Given the description of an element on the screen output the (x, y) to click on. 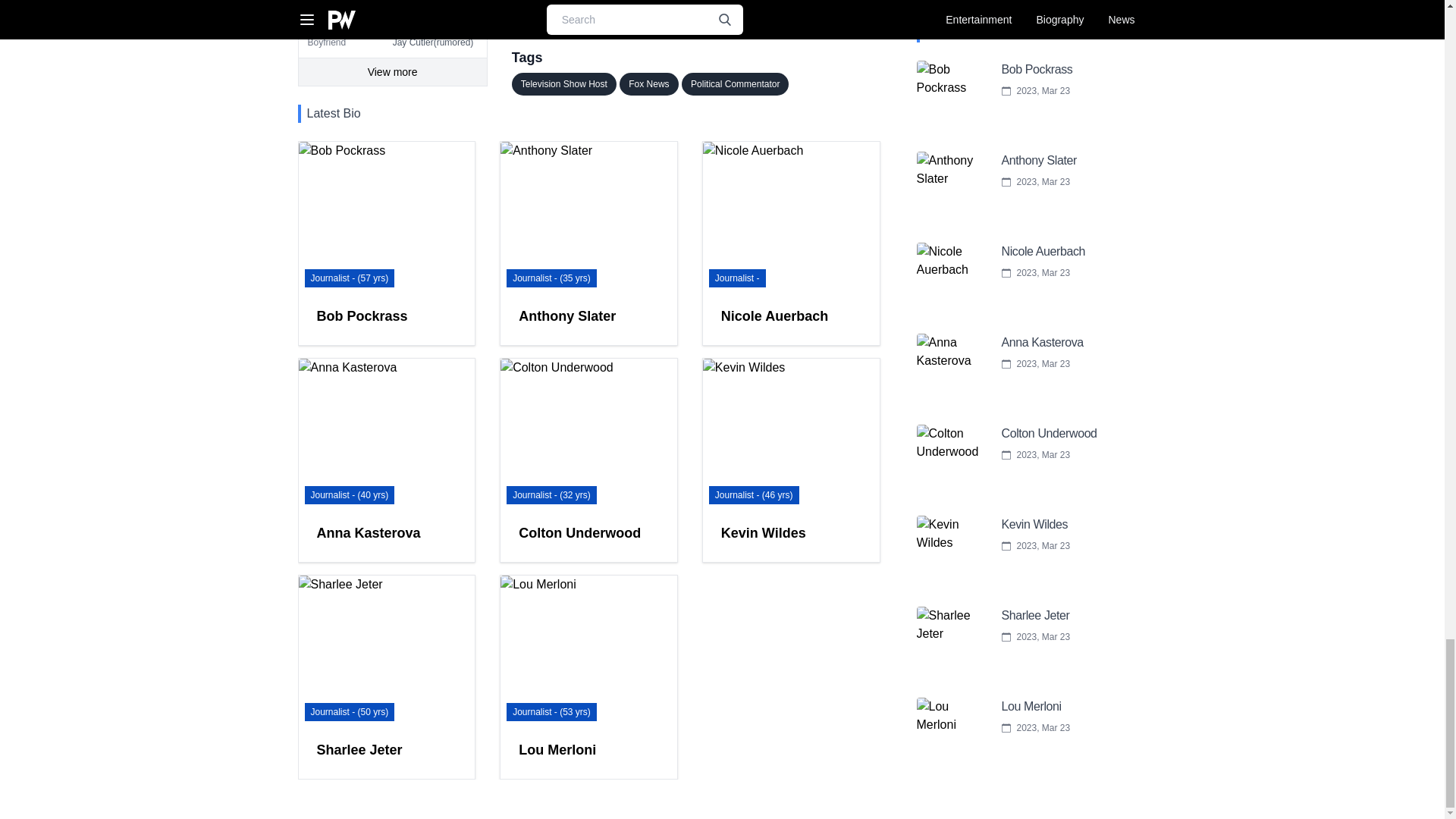
PlayersWiki (788, 20)
Political Commentator (735, 83)
Fox News (649, 83)
Television Show Host (563, 83)
